Given the description of an element on the screen output the (x, y) to click on. 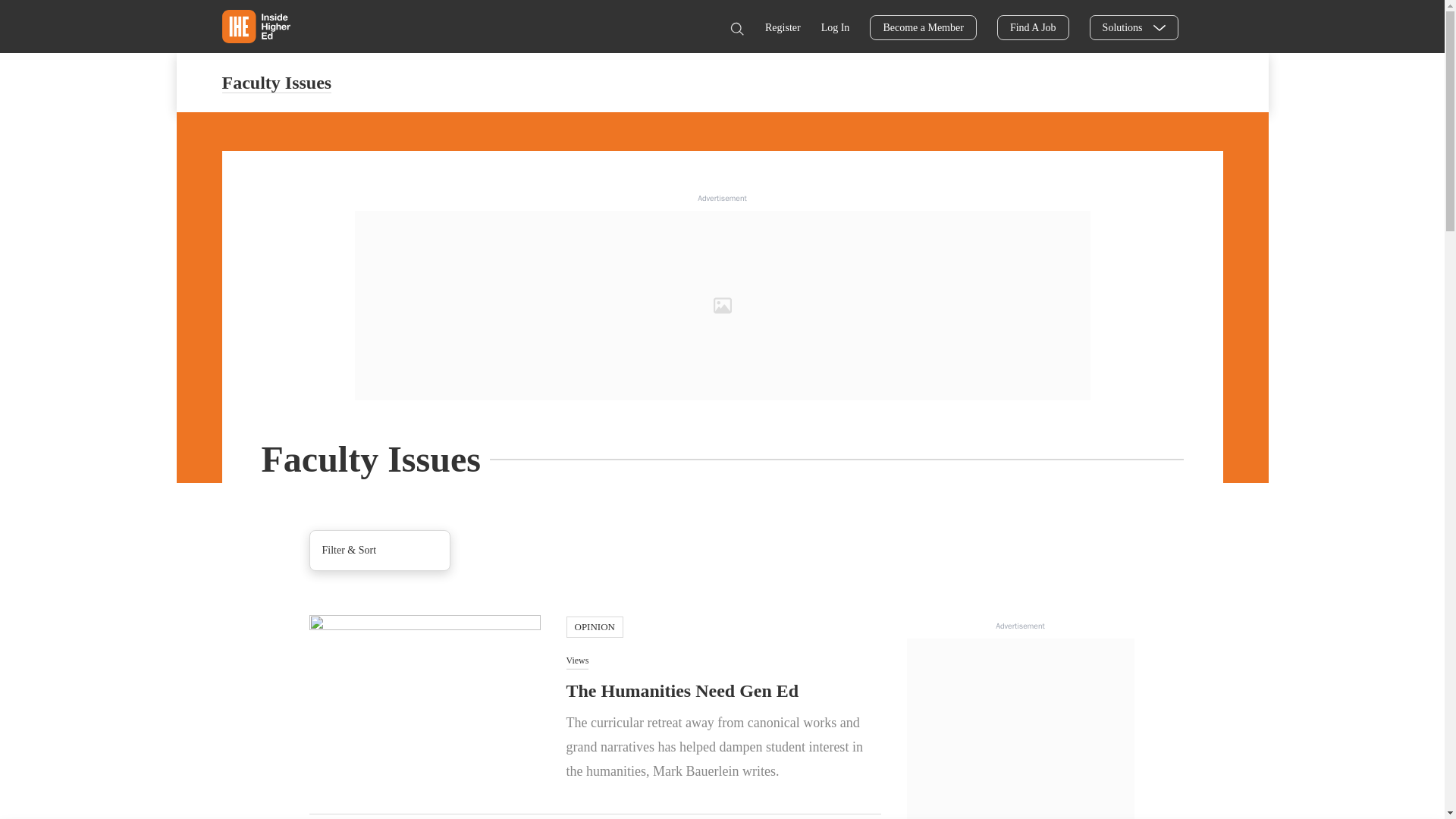
Become a Member (922, 27)
Search (736, 28)
Find A Job (1032, 27)
Home (255, 26)
